Given the description of an element on the screen output the (x, y) to click on. 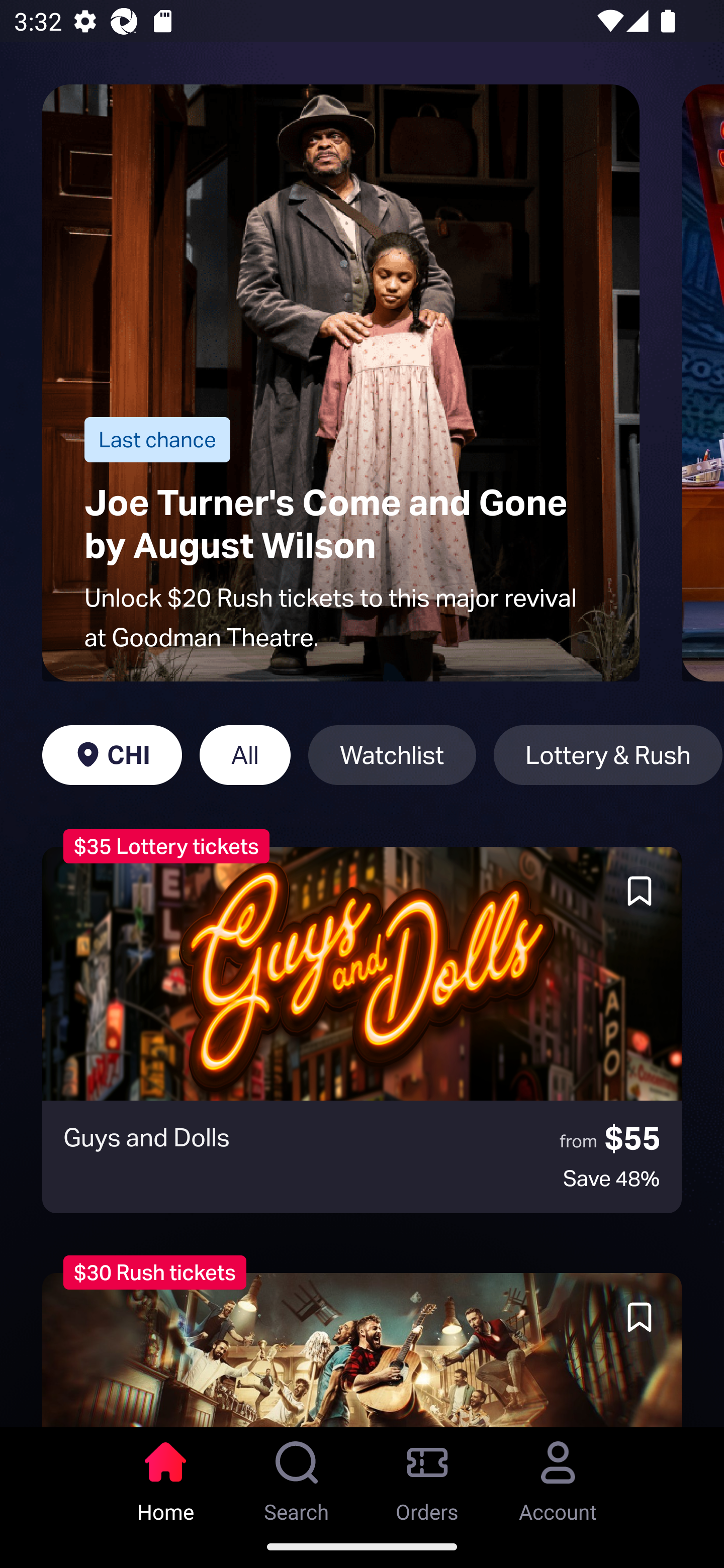
CHI (111, 754)
All (244, 754)
Watchlist (392, 754)
Lottery & Rush (607, 754)
Guys and Dolls from $55 Save 48% (361, 1029)
Search (296, 1475)
Orders (427, 1475)
Account (558, 1475)
